Given the description of an element on the screen output the (x, y) to click on. 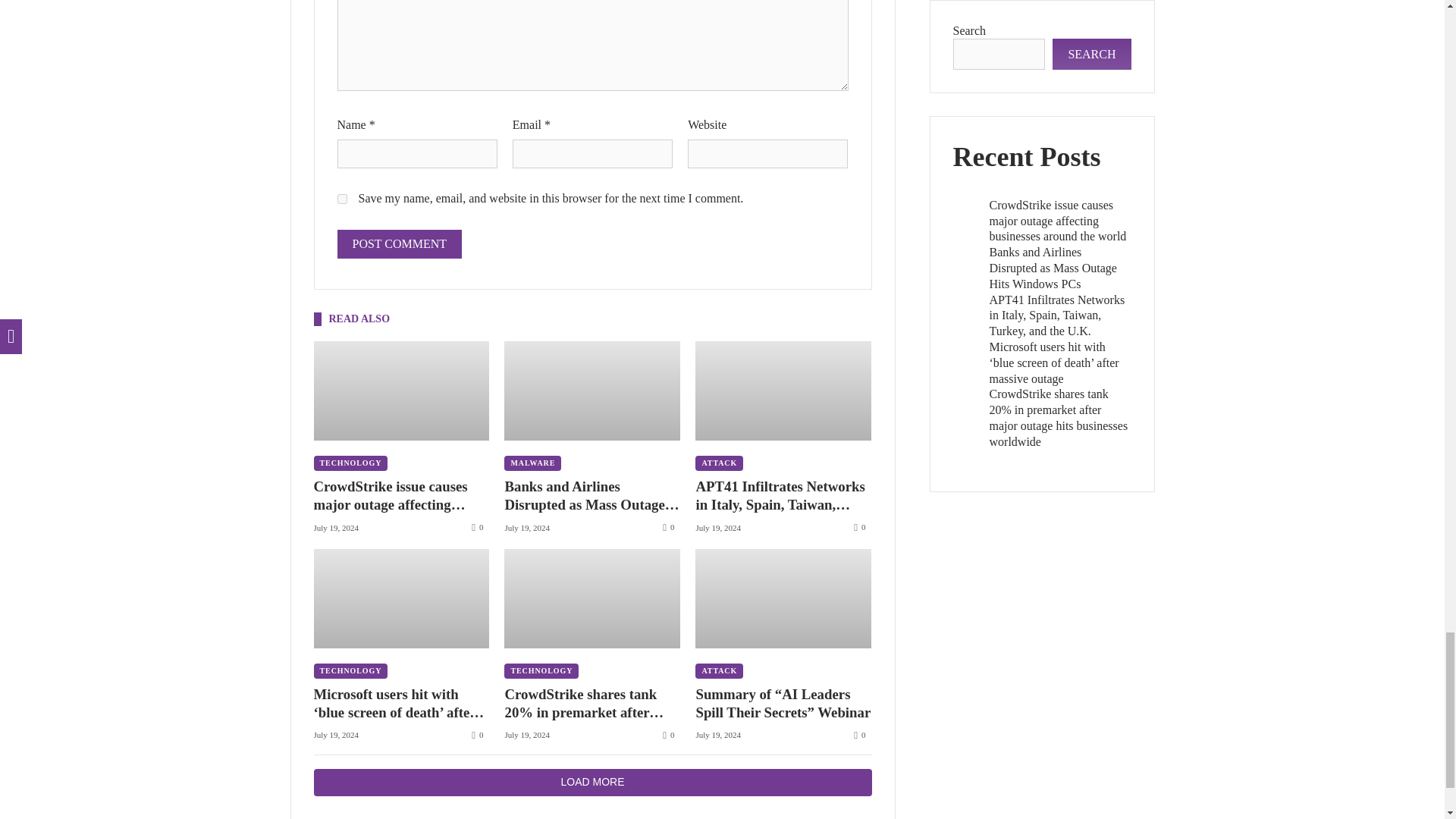
yes (341, 198)
Post Comment (398, 244)
